Given the description of an element on the screen output the (x, y) to click on. 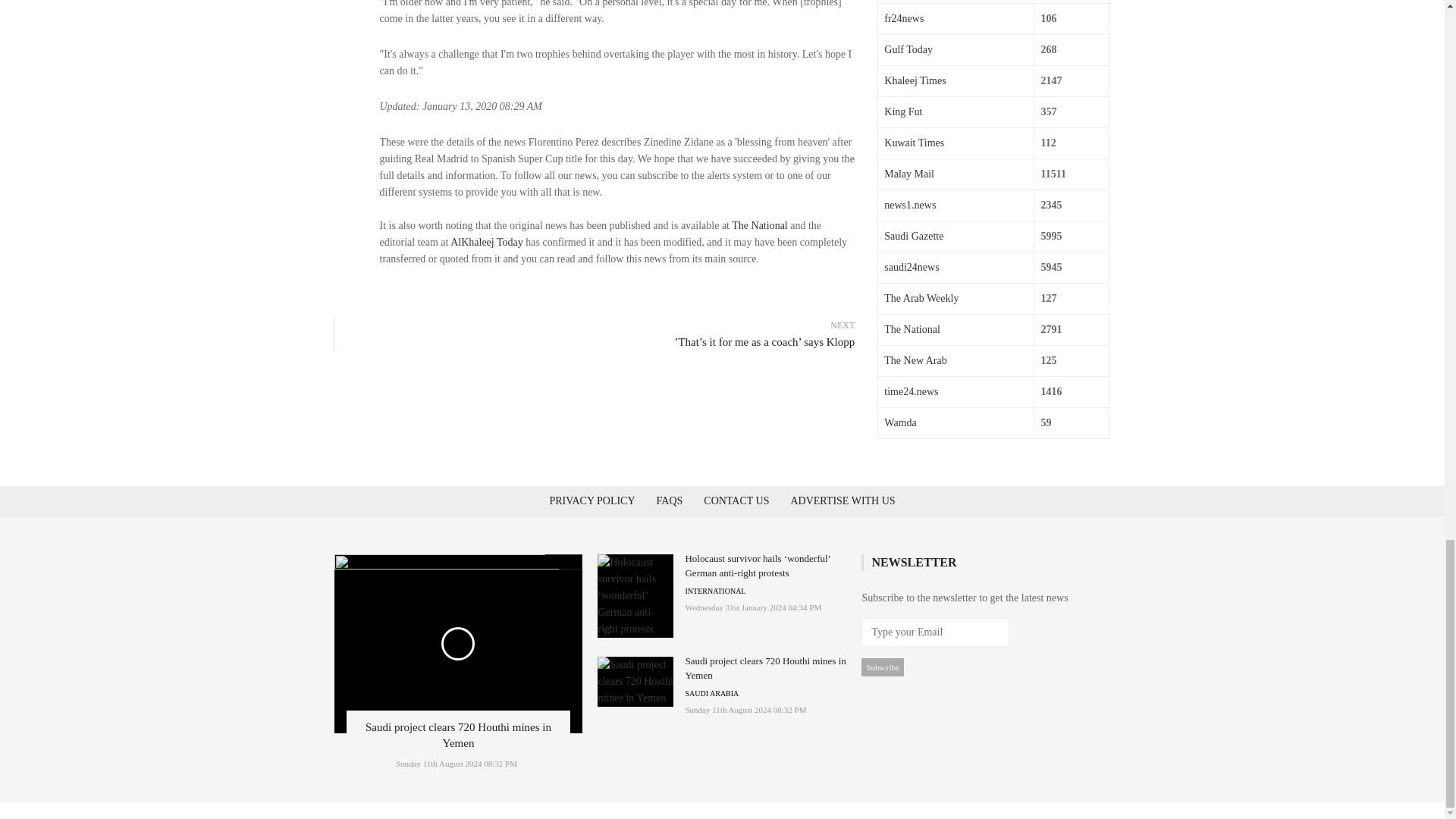
Subscribe (881, 667)
The National (759, 225)
AlKhaleej Today (485, 242)
